Given the description of an element on the screen output the (x, y) to click on. 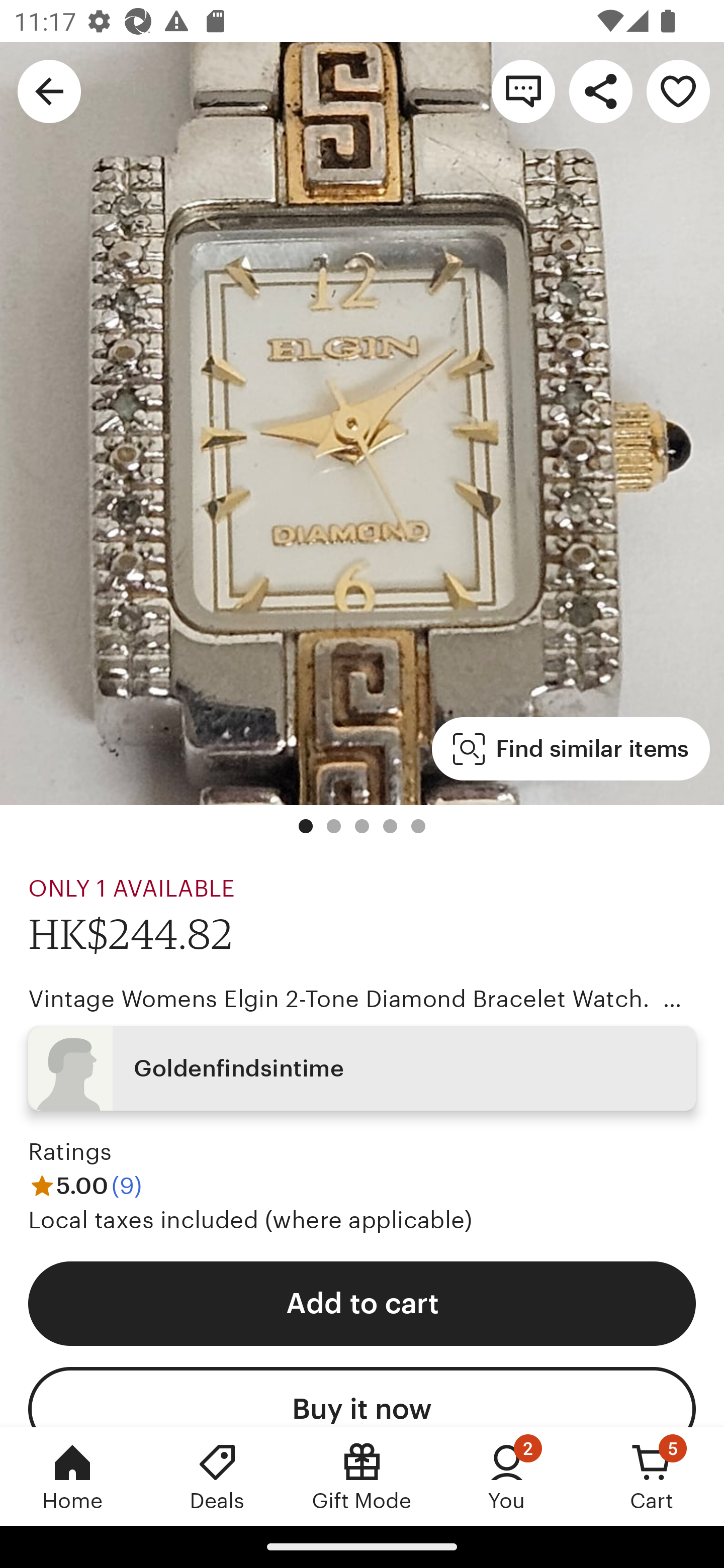
Navigate up (49, 90)
Contact shop (523, 90)
Share (600, 90)
Find similar items (571, 748)
Goldenfindsintime (361, 1067)
Ratings (70, 1151)
5.00 (9) (85, 1185)
Add to cart (361, 1302)
Buy it now (361, 1396)
Deals (216, 1475)
Gift Mode (361, 1475)
You, 2 new notifications You (506, 1475)
Cart, 5 new notifications Cart (651, 1475)
